Given the description of an element on the screen output the (x, y) to click on. 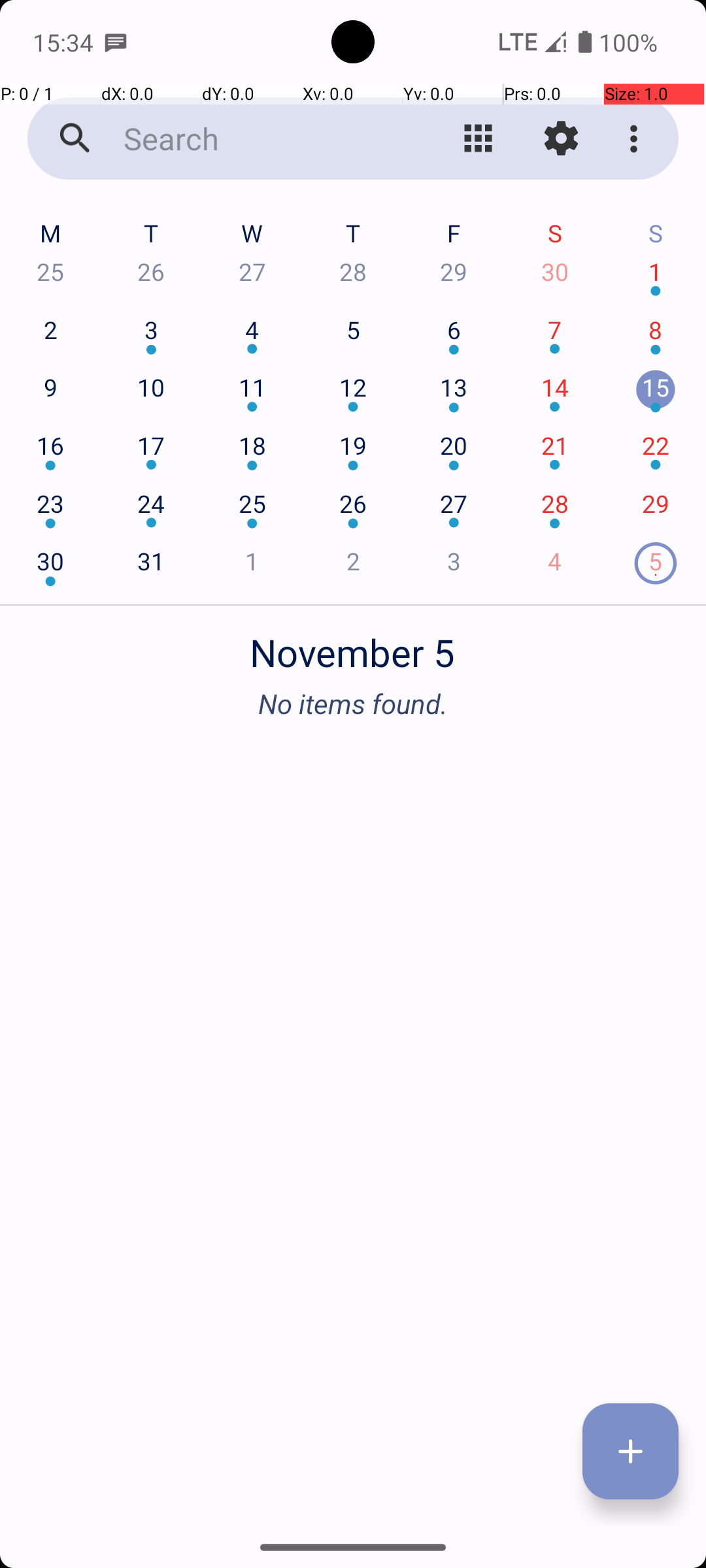
November 5 Element type: android.widget.TextView (352, 644)
